Given the description of an element on the screen output the (x, y) to click on. 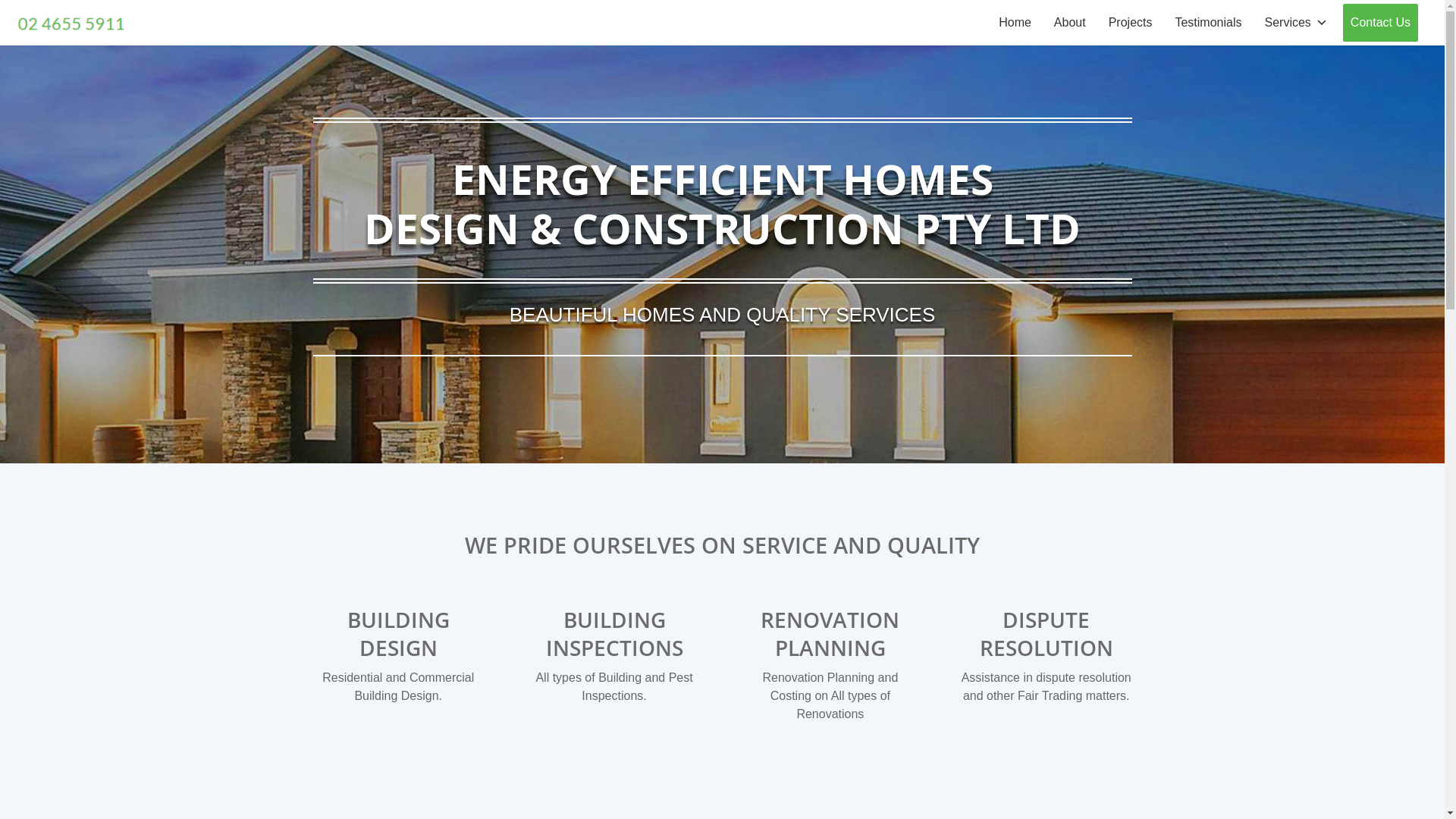
RENOVATION PLANNING Element type: text (829, 633)
Projects Element type: text (1130, 22)
Home Element type: text (1014, 22)
Services Element type: text (1296, 22)
About Element type: text (1069, 22)
DISPUTE RESOLUTION Element type: text (1046, 633)
Contact Us Element type: text (1380, 22)
BUILDING INSPECTIONS Element type: text (614, 633)
Testimonials Element type: text (1207, 22)
DESIGN Element type: text (398, 647)
BUILDING Element type: text (398, 619)
